Given the description of an element on the screen output the (x, y) to click on. 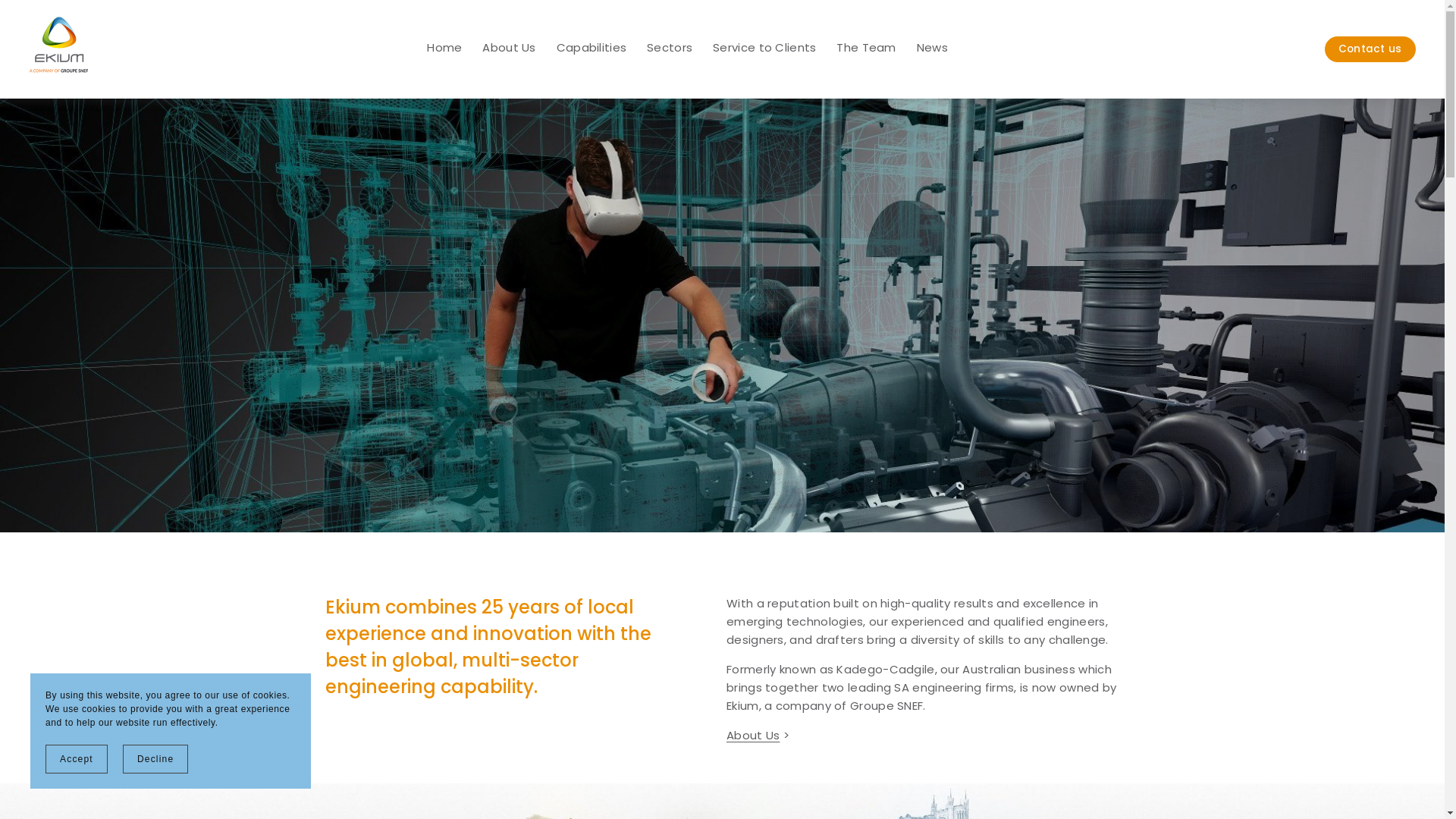
About Us Element type: text (752, 736)
Service to Clients Element type: text (763, 49)
News Element type: text (931, 49)
Capabilities Element type: text (591, 49)
Contact us Element type: text (1369, 49)
About Us Element type: text (508, 49)
The Team Element type: text (865, 49)
Accept Element type: text (76, 758)
Home Element type: text (443, 49)
Sectors Element type: text (669, 49)
Decline Element type: text (155, 758)
